Given the description of an element on the screen output the (x, y) to click on. 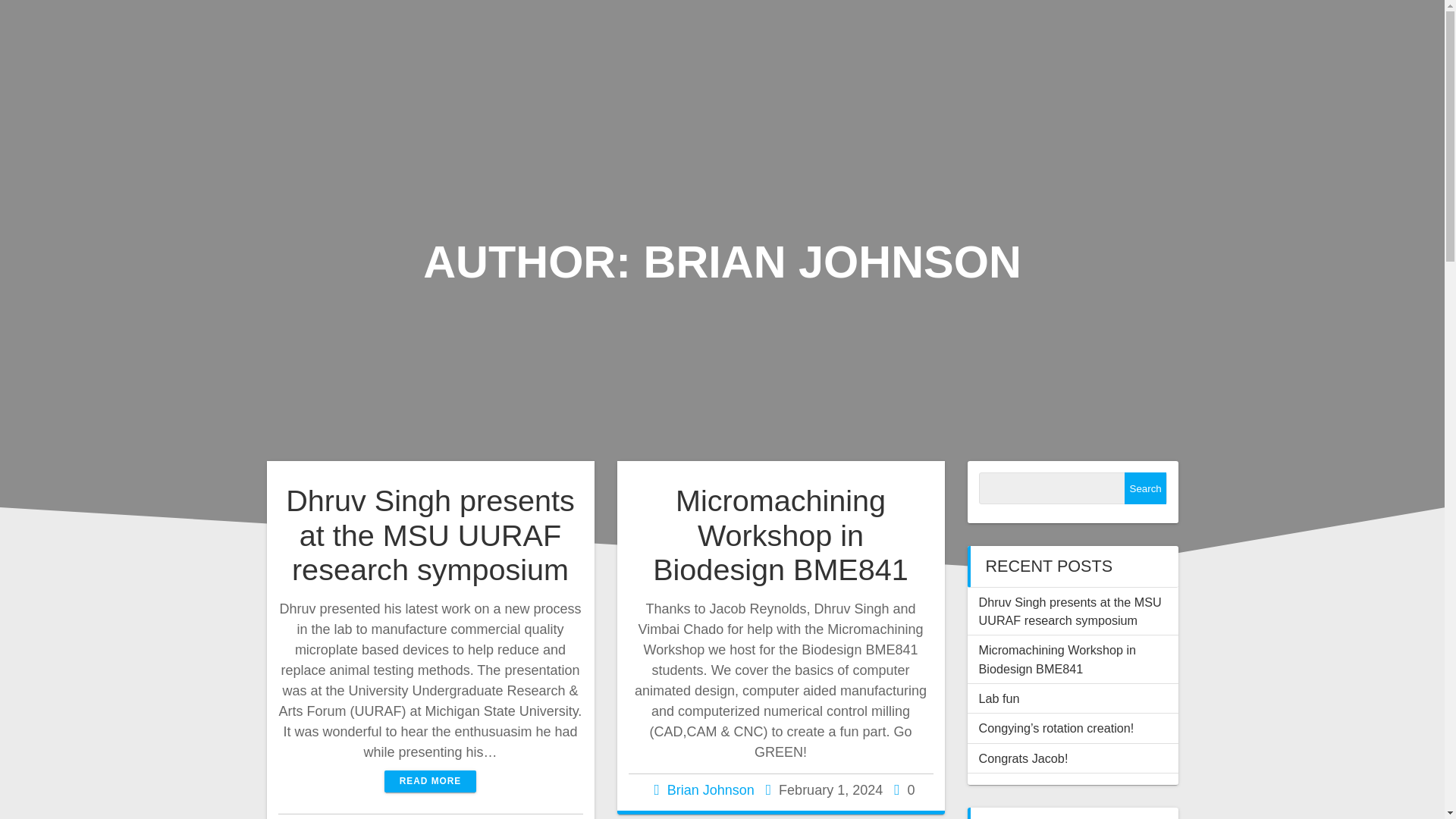
Congrats Jacob! (1022, 757)
Posts by Brian Johnson (710, 789)
Brian Johnson (710, 789)
HOME (1331, 34)
Dhruv Singh presents at the MSU UURAF research symposium (430, 535)
Micromachining Workshop in Biodesign BME841 (1056, 658)
Lab fun (998, 698)
Dhruv Singh presents at the MSU UURAF research symposium (1069, 611)
Search (1145, 488)
Search (1145, 488)
READ MORE (430, 781)
Micromachining Workshop in Biodesign BME841 (780, 535)
